Given the description of an element on the screen output the (x, y) to click on. 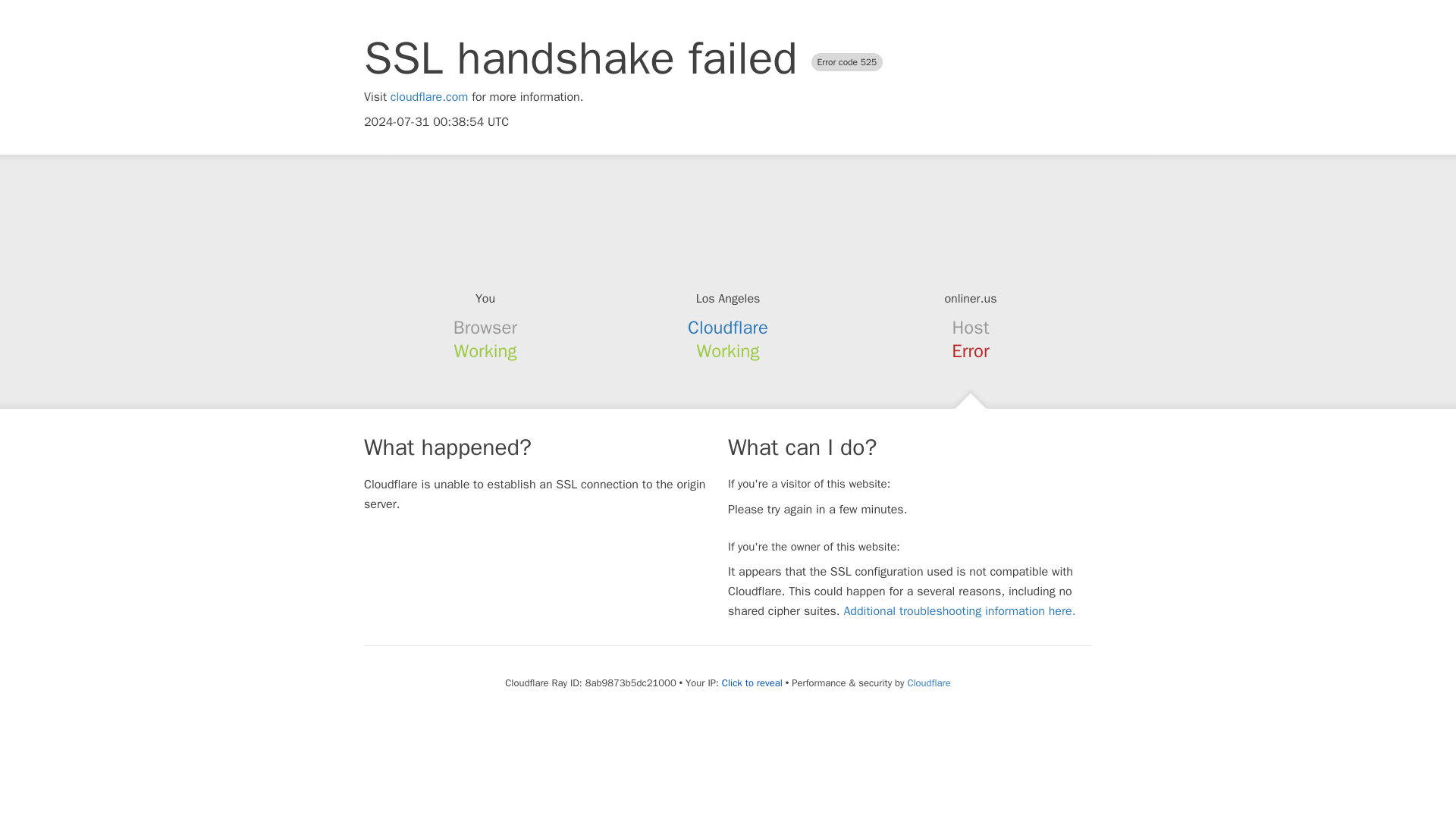
Additional troubleshooting information here. (959, 611)
Cloudflare (928, 682)
Cloudflare (727, 327)
cloudflare.com (429, 96)
Click to reveal (752, 683)
